Given the description of an element on the screen output the (x, y) to click on. 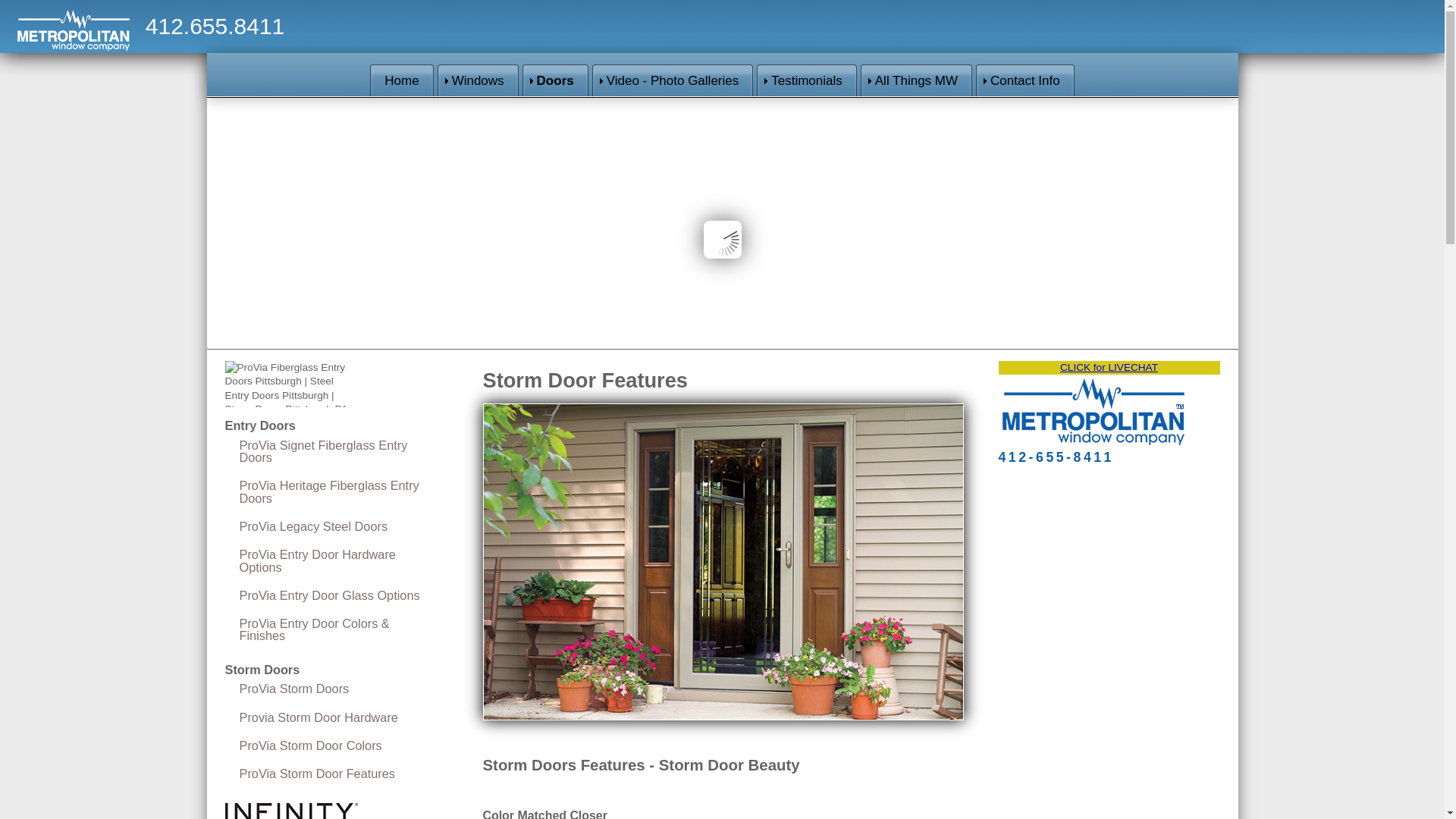
Doors (555, 80)
Home (400, 80)
Windows (478, 80)
